Given the description of an element on the screen output the (x, y) to click on. 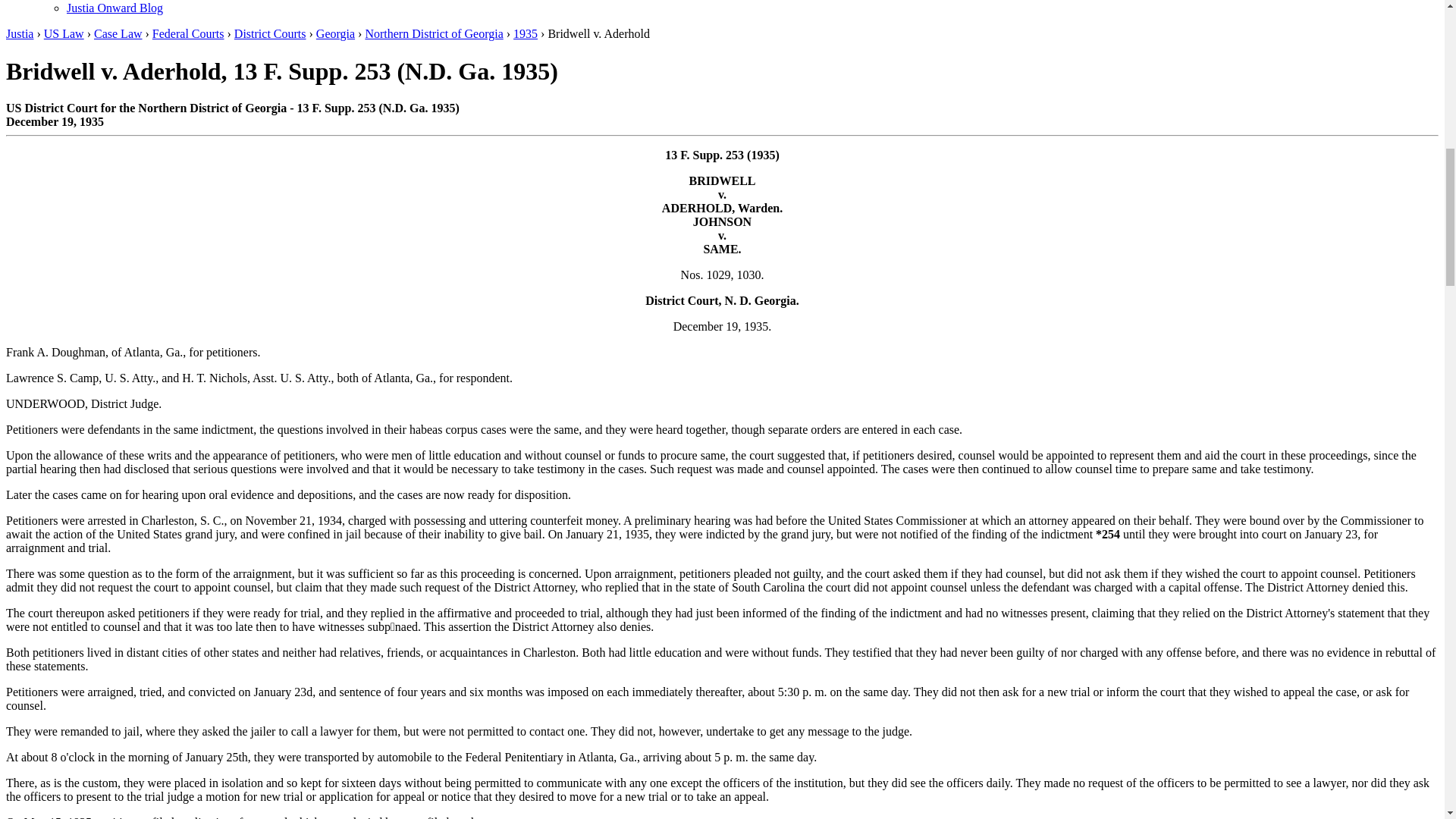
Social Media (98, 0)
District Courts (269, 33)
Justia Onward Blog (114, 7)
Case Law (118, 33)
1935 (525, 33)
Georgia (335, 33)
US Law (63, 33)
Federal Courts (188, 33)
Justia (19, 33)
Northern District of Georgia (433, 33)
